Given the description of an element on the screen output the (x, y) to click on. 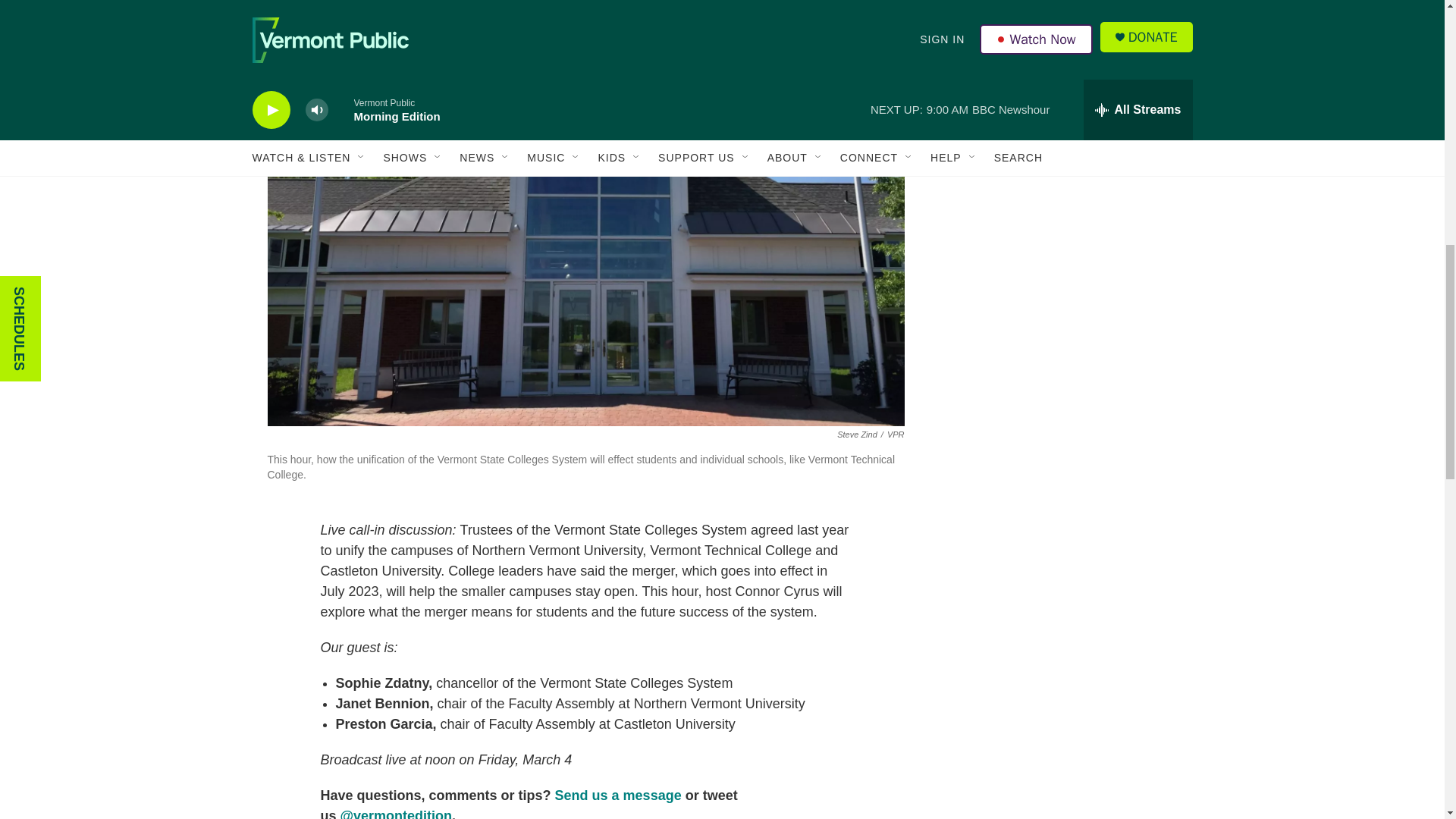
3rd party ad content (1062, 124)
3rd party ad content (1062, 343)
